Given the description of an element on the screen output the (x, y) to click on. 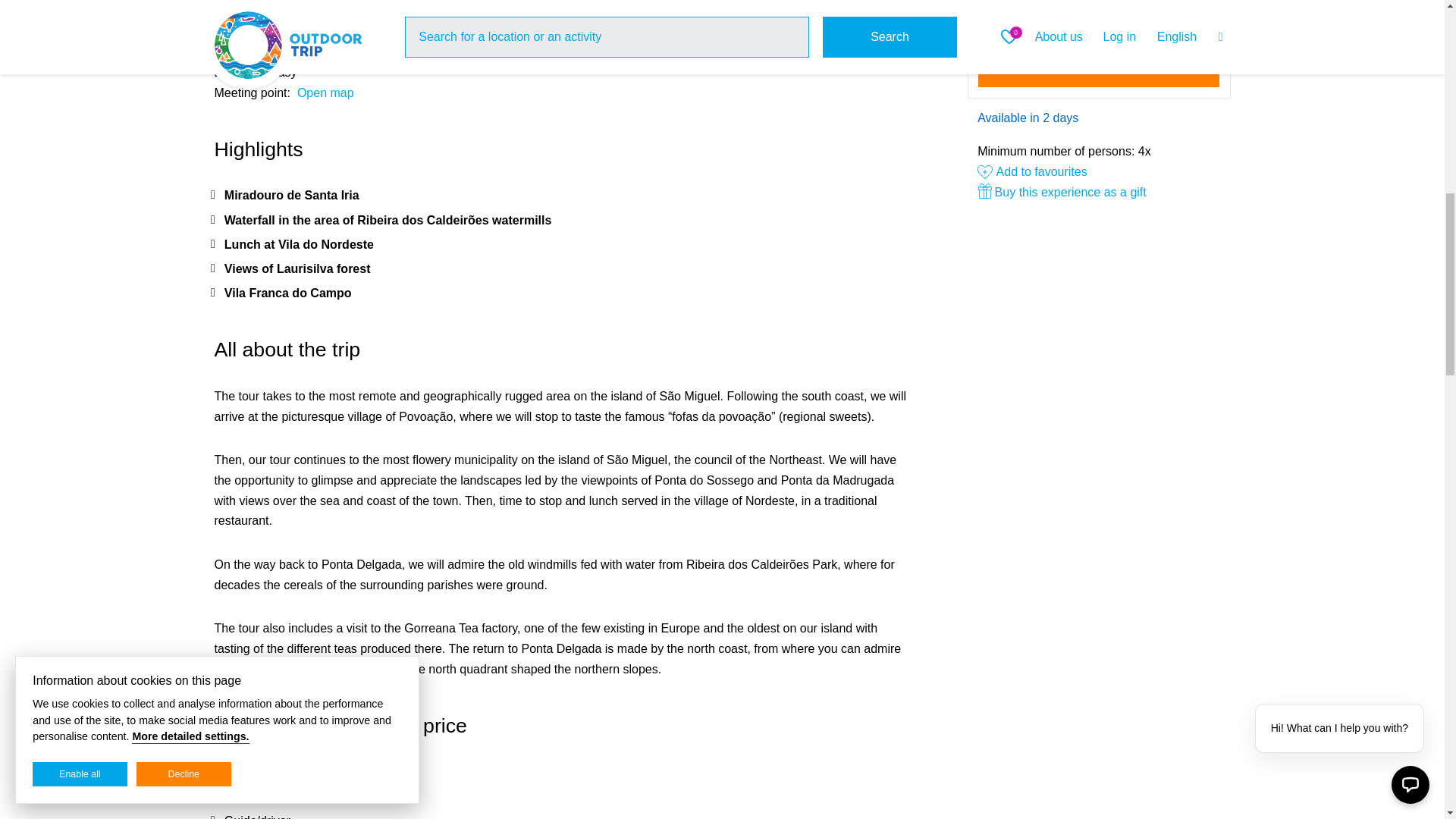
Open map (325, 92)
Date and time (1099, 18)
Walking Tours (301, 11)
